Given the description of an element on the screen output the (x, y) to click on. 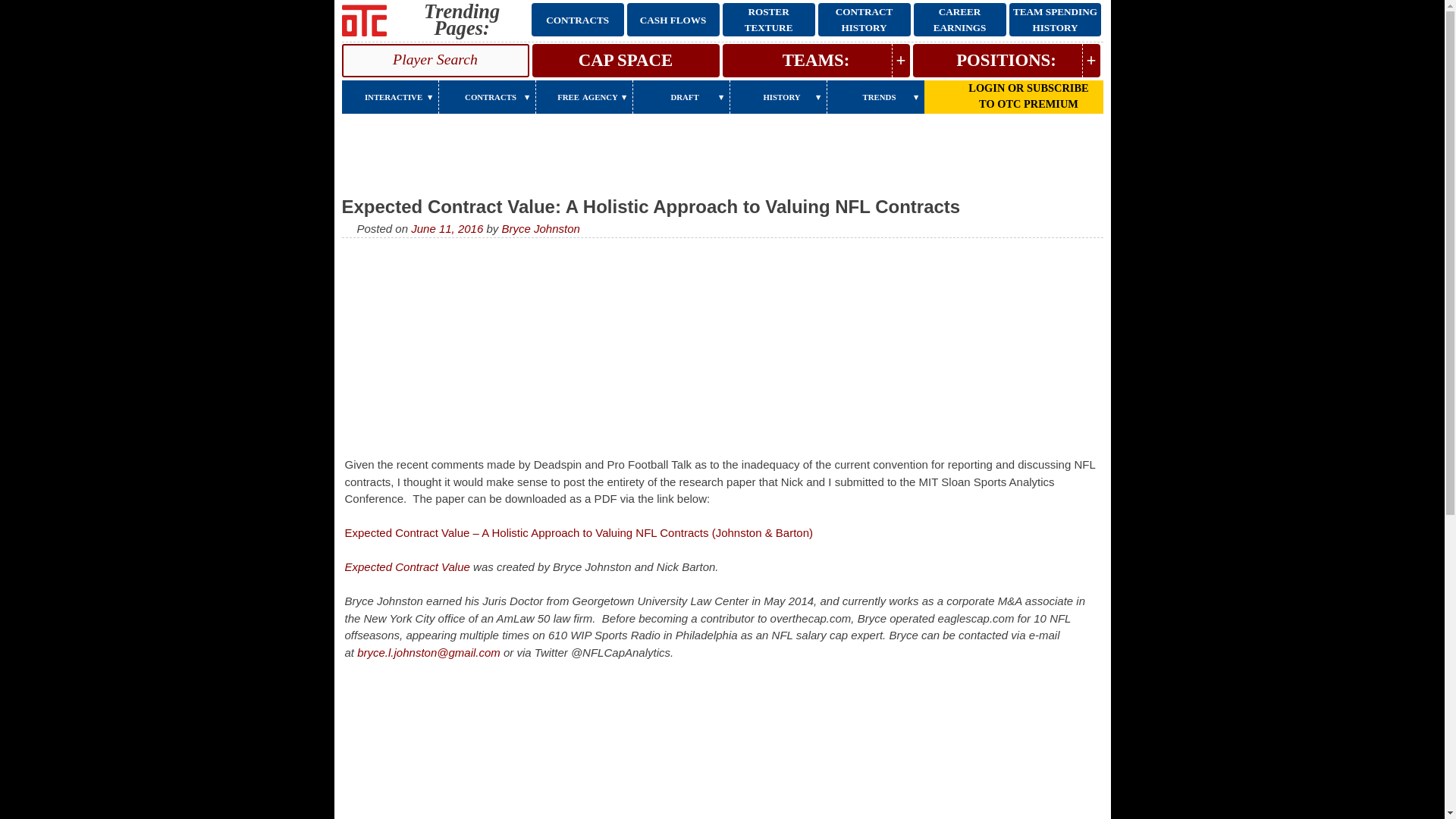
ROSTER TEXTURE (768, 19)
CAREER EARNINGS (960, 19)
CONTRACT HISTORY (864, 19)
CAP SPACE (625, 60)
CASH FLOWS (673, 19)
TEAM SPENDING HISTORY (1054, 19)
CONTRACTS (577, 19)
